Given the description of an element on the screen output the (x, y) to click on. 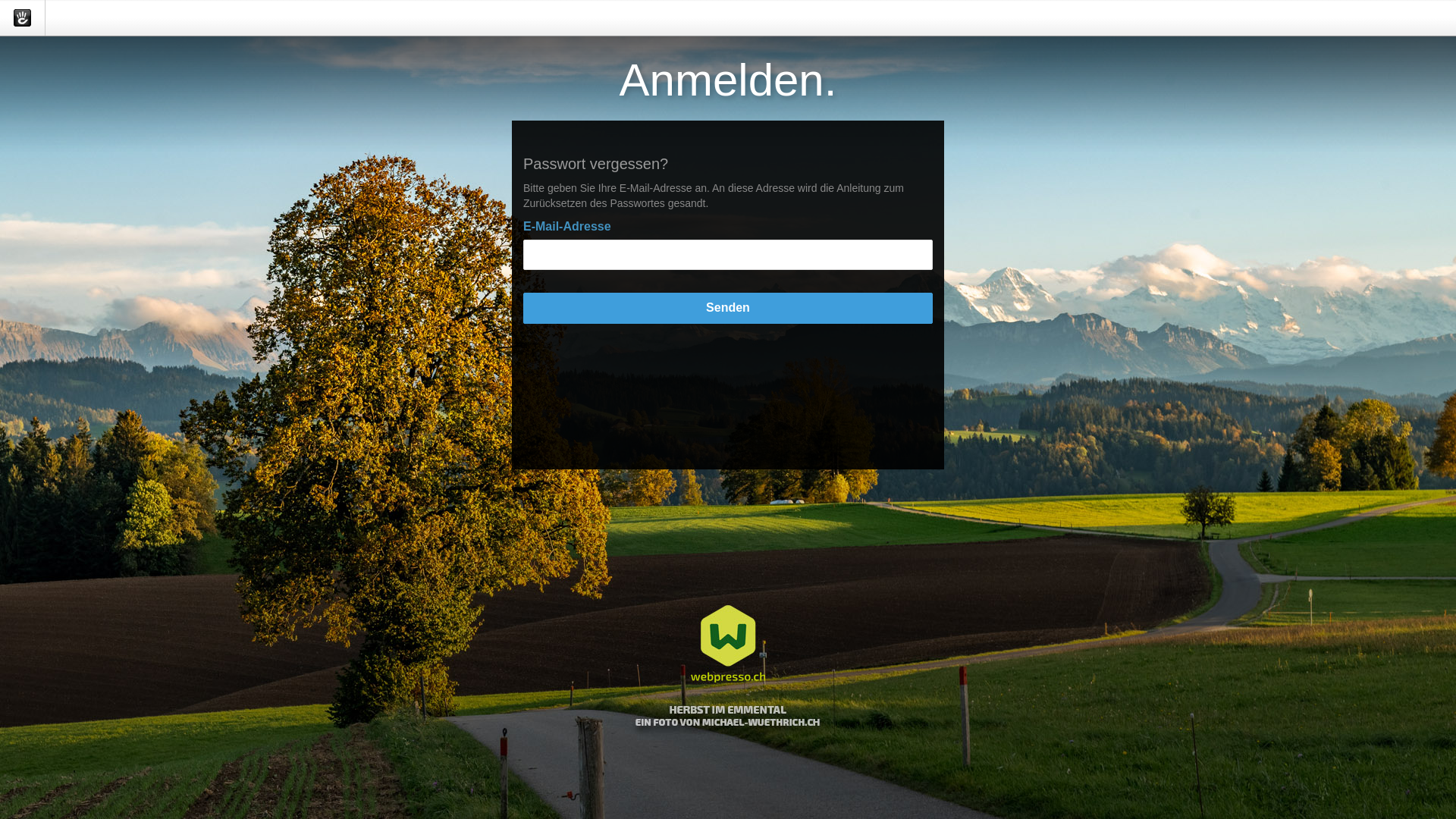
concrete5 Element type: hover (22, 17)
Senden Element type: text (727, 307)
